Given the description of an element on the screen output the (x, y) to click on. 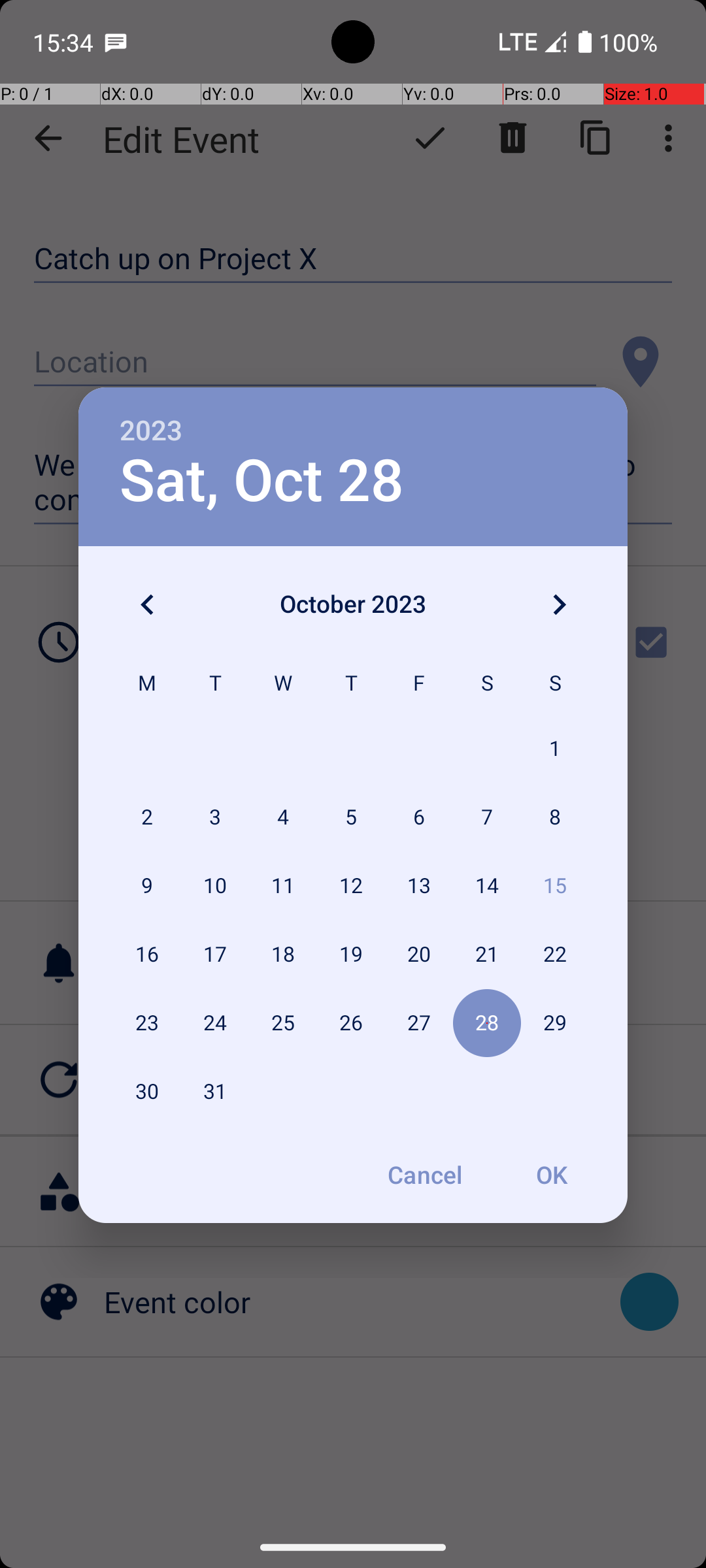
Sat, Oct 28 Element type: android.widget.TextView (261, 480)
